Given the description of an element on the screen output the (x, y) to click on. 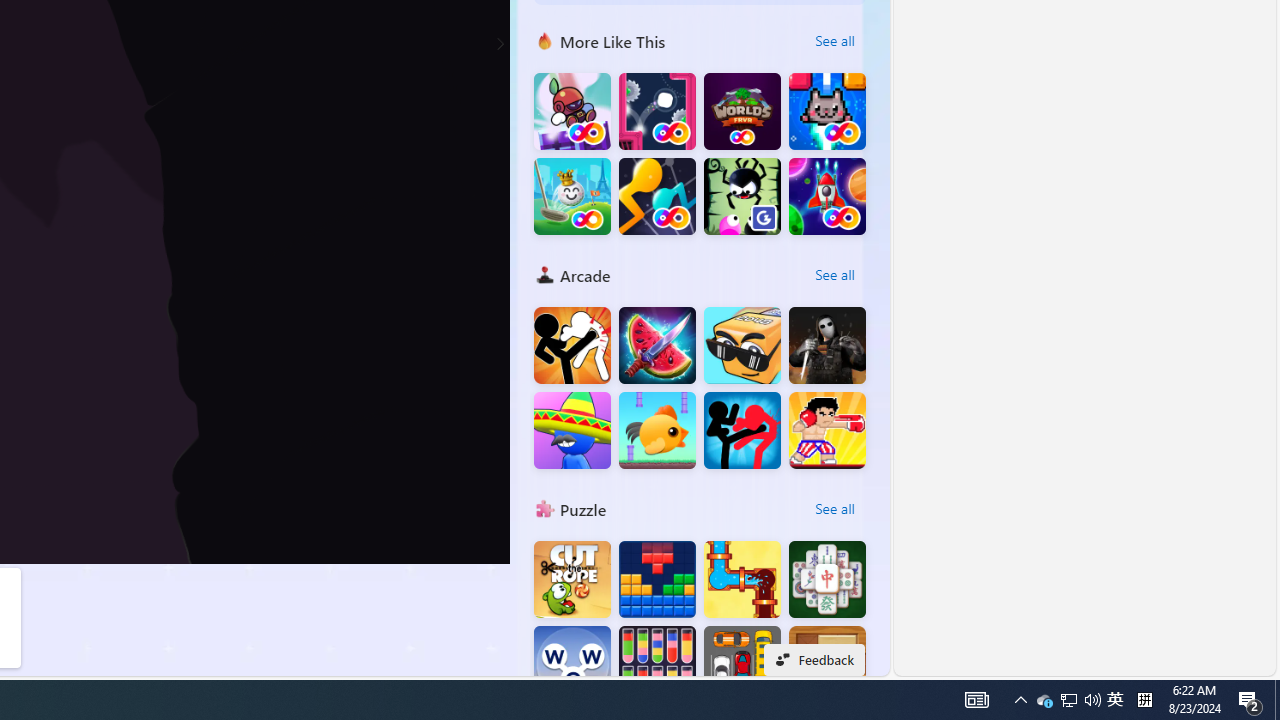
Hunter Hitman (827, 345)
Boing FRVR (571, 111)
Fruit Chopper (657, 345)
Solitaire Mahjong Classic (827, 579)
See all (834, 508)
Arcade (544, 274)
Boxing fighter : Super punch (827, 430)
Cubes2048 (742, 345)
Stickman fighter : Epic battle (742, 430)
Stickman Brawl (571, 430)
Feedback (814, 659)
BlockBuster: Adventures Puzzle (657, 579)
Worlds FRVR (742, 111)
Plumber World (742, 579)
Class: control (499, 43)
